Given the description of an element on the screen output the (x, y) to click on. 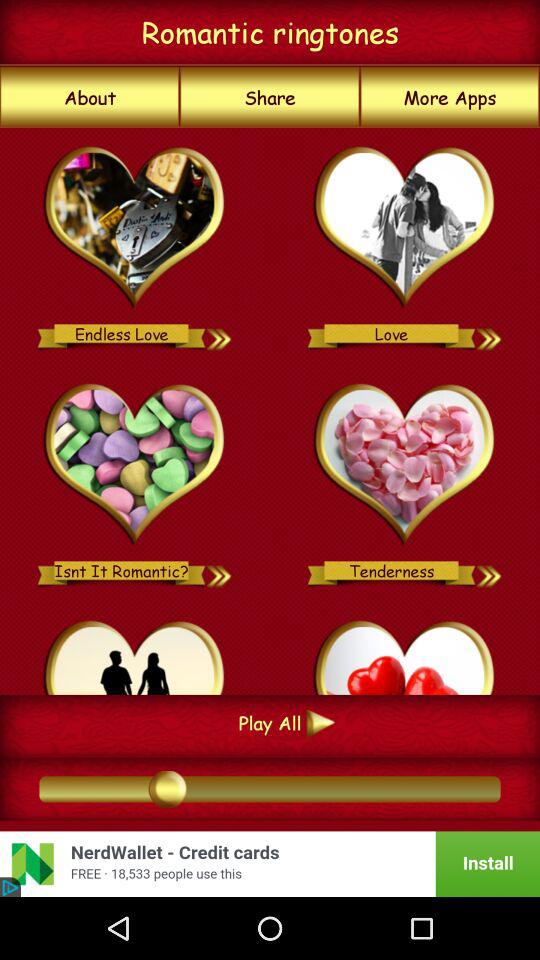
reproduce ringtone (220, 570)
